Given the description of an element on the screen output the (x, y) to click on. 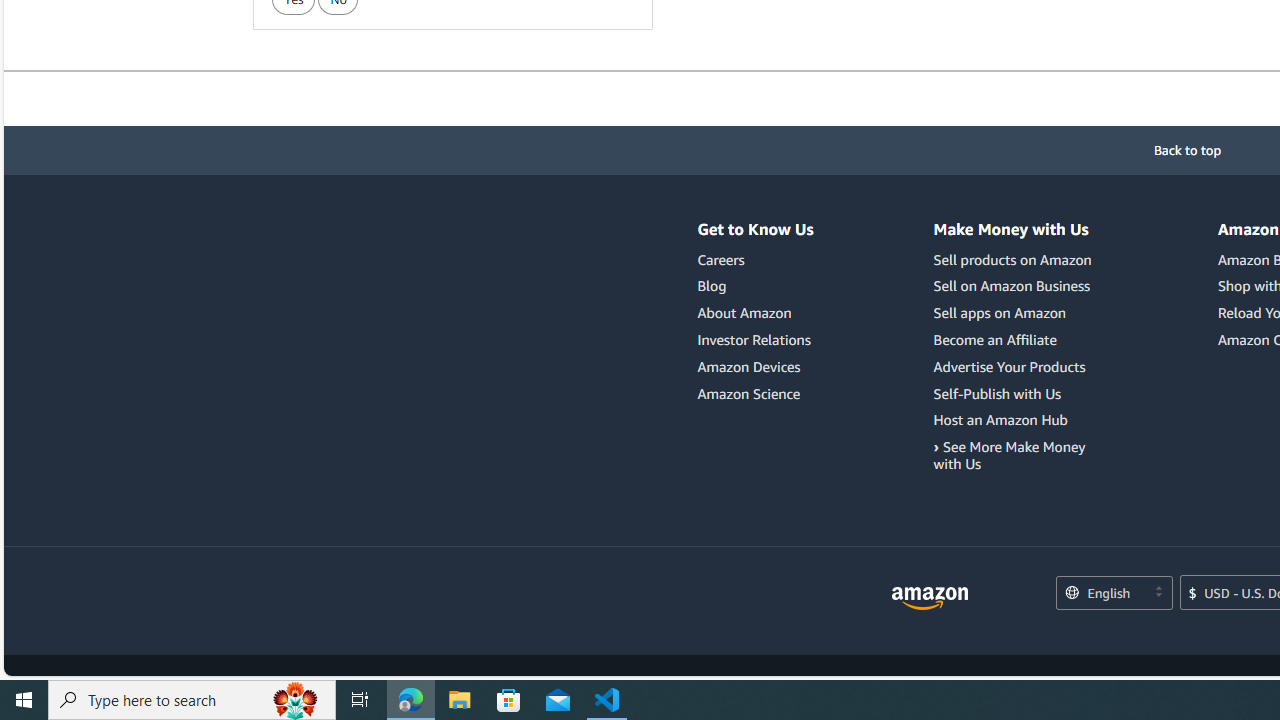
Amazon Science (749, 393)
Careers (755, 260)
Host an Amazon Hub (1015, 420)
Careers (720, 259)
See More Make Money with Us (1015, 456)
Investor Relations (754, 339)
Amazon Devices (755, 366)
Sell products on Amazon (1015, 260)
Amazon Devices (749, 366)
Amazon US Home (930, 597)
Sell apps on Amazon (1015, 313)
Sell on Amazon Business (1011, 286)
Amazon Science (755, 394)
Host an Amazon Hub (1000, 420)
Become an Affiliate (1015, 340)
